Given the description of an element on the screen output the (x, y) to click on. 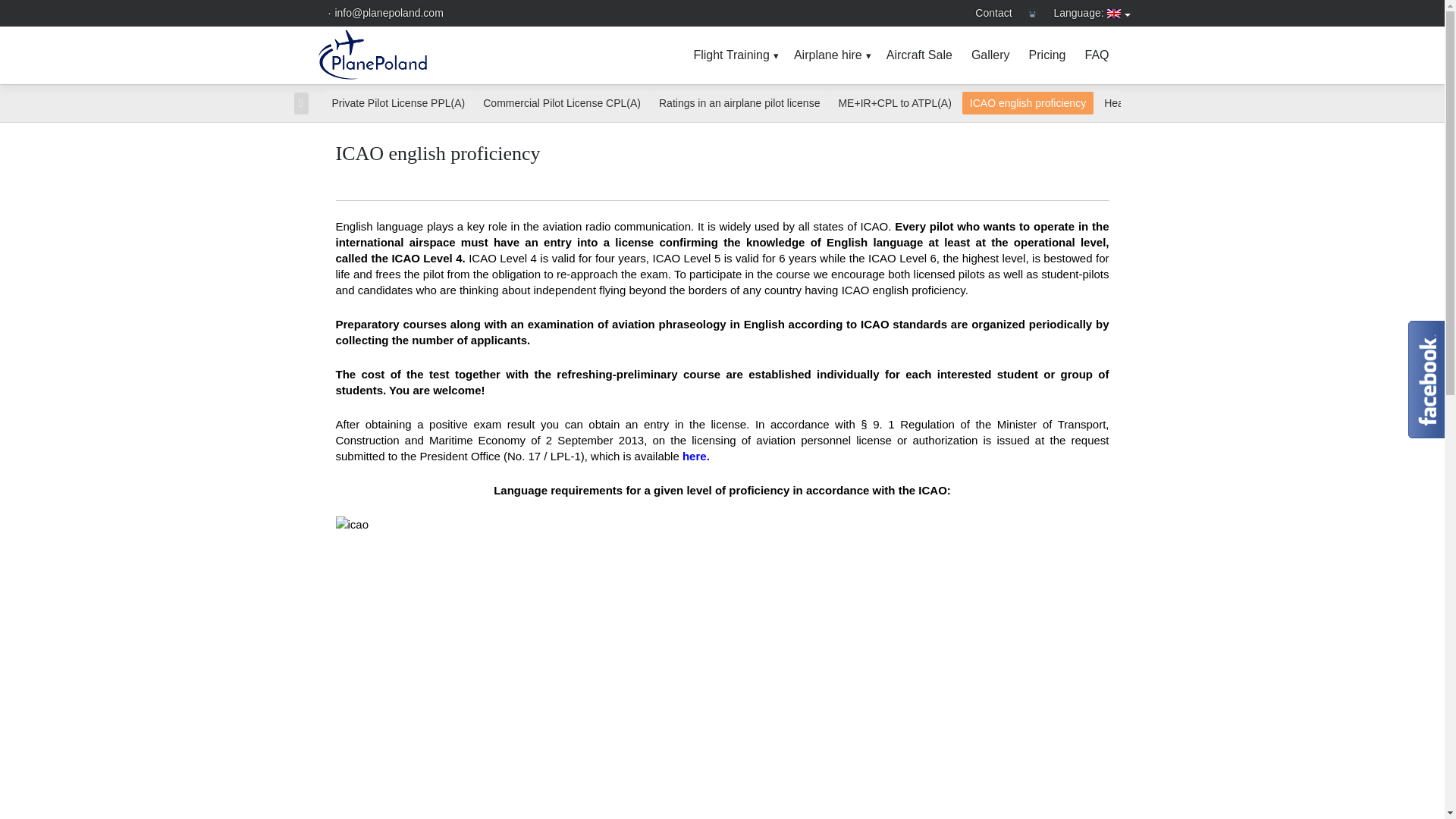
English (1085, 12)
Health requirements (1151, 102)
Flight Training (735, 55)
Language:  (1085, 12)
ICAO english proficiency (1027, 102)
Pricing (1049, 55)
Contact (993, 12)
Gallery (992, 55)
Airplane hire (832, 55)
Aircraft Sale (921, 55)
Ratings in an airplane pilot license (738, 102)
